Given the description of an element on the screen output the (x, y) to click on. 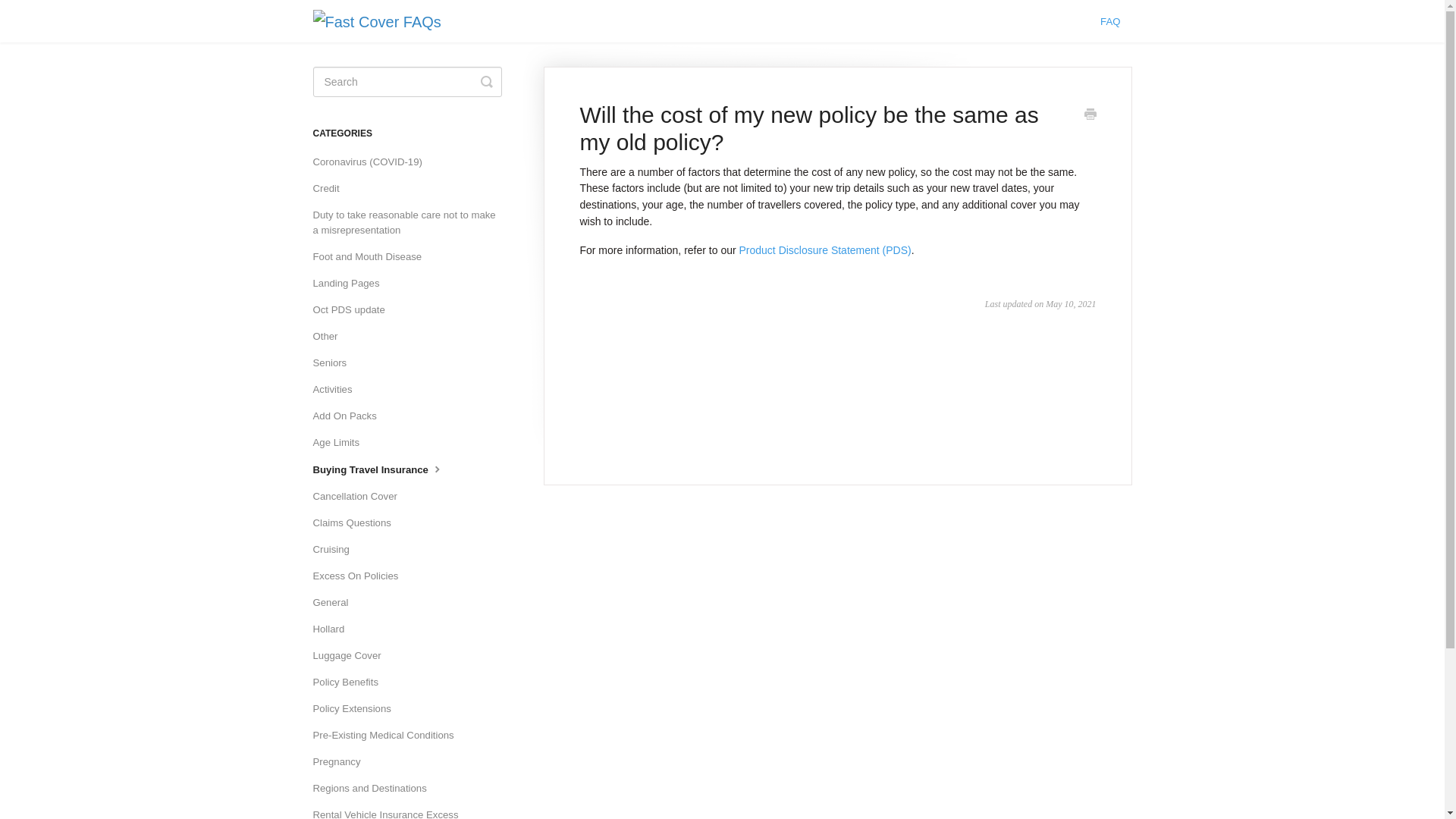
Pregnancy Element type: text (341, 761)
Claims Questions Element type: text (356, 523)
Buying Travel Insurance Element type: text (383, 469)
General Element type: text (335, 602)
Add On Packs Element type: text (349, 416)
Other Element type: text (330, 336)
Policy Benefits Element type: text (350, 682)
Luggage Cover Element type: text (352, 655)
Policy Extensions Element type: text (356, 708)
Product Disclosure Statement (PDS) Element type: text (825, 250)
Excess On Policies Element type: text (360, 576)
FAQ Element type: text (1109, 21)
Cruising Element type: text (336, 549)
Hollard Element type: text (333, 629)
Seniors Element type: text (334, 363)
Landing Pages Element type: text (351, 283)
Duty to take reasonable care not to make a misrepresentation Element type: text (412, 222)
Print this article Element type: hover (1090, 115)
Credit Element type: text (331, 188)
search-query Element type: hover (406, 81)
Pre-Existing Medical Conditions Element type: text (388, 735)
Foot and Mouth Disease Element type: text (372, 256)
Activities Element type: text (337, 389)
Oct PDS update Element type: text (353, 310)
Regions and Destinations Element type: text (374, 788)
Coronavirus (COVID-19) Element type: text (372, 162)
Cancellation Cover Element type: text (359, 496)
Toggle Search Element type: text (486, 81)
Age Limits Element type: text (341, 442)
